Given the description of an element on the screen output the (x, y) to click on. 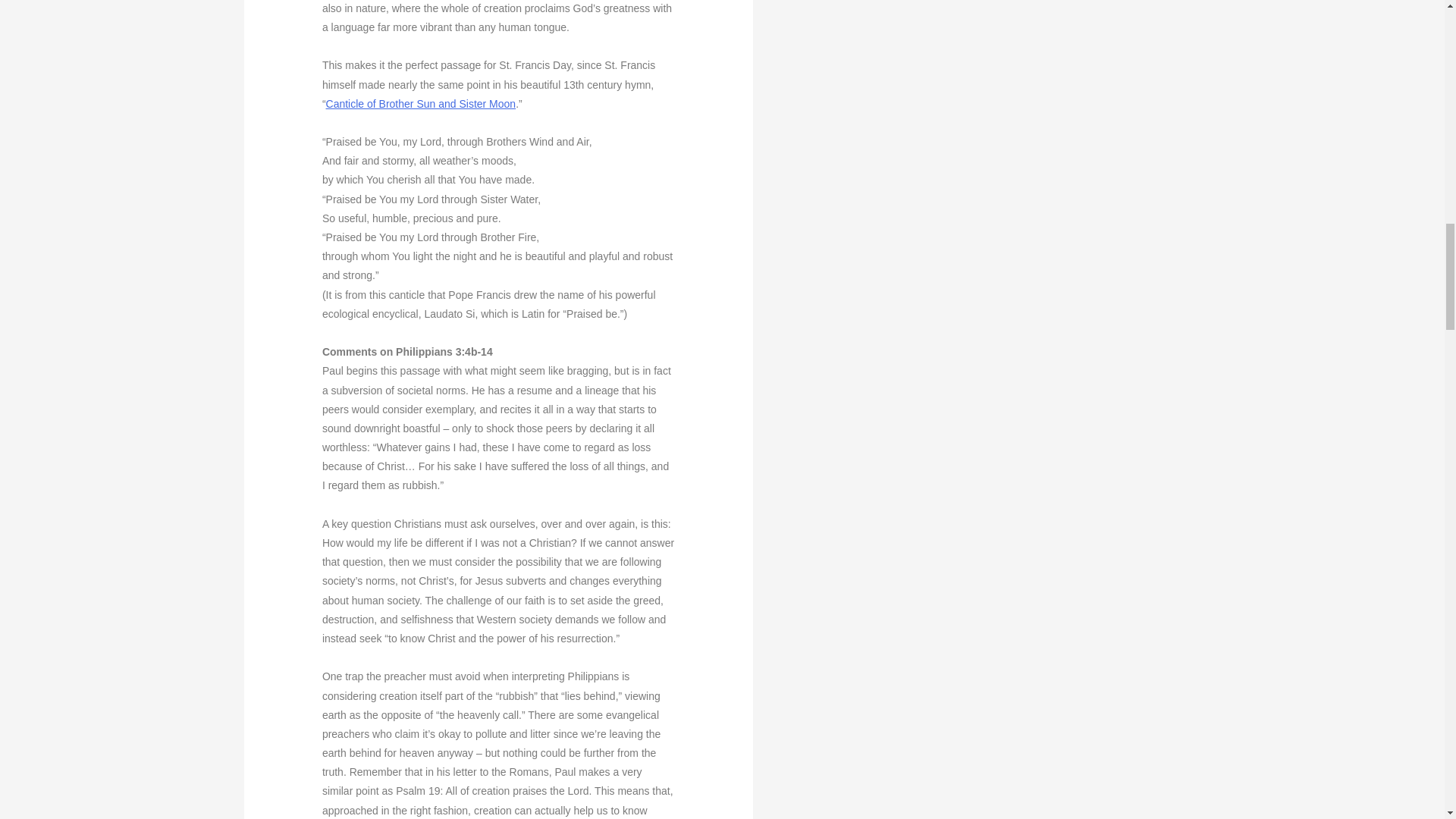
Canticle of Brother Sun and Sister Moon (421, 103)
